Given the description of an element on the screen output the (x, y) to click on. 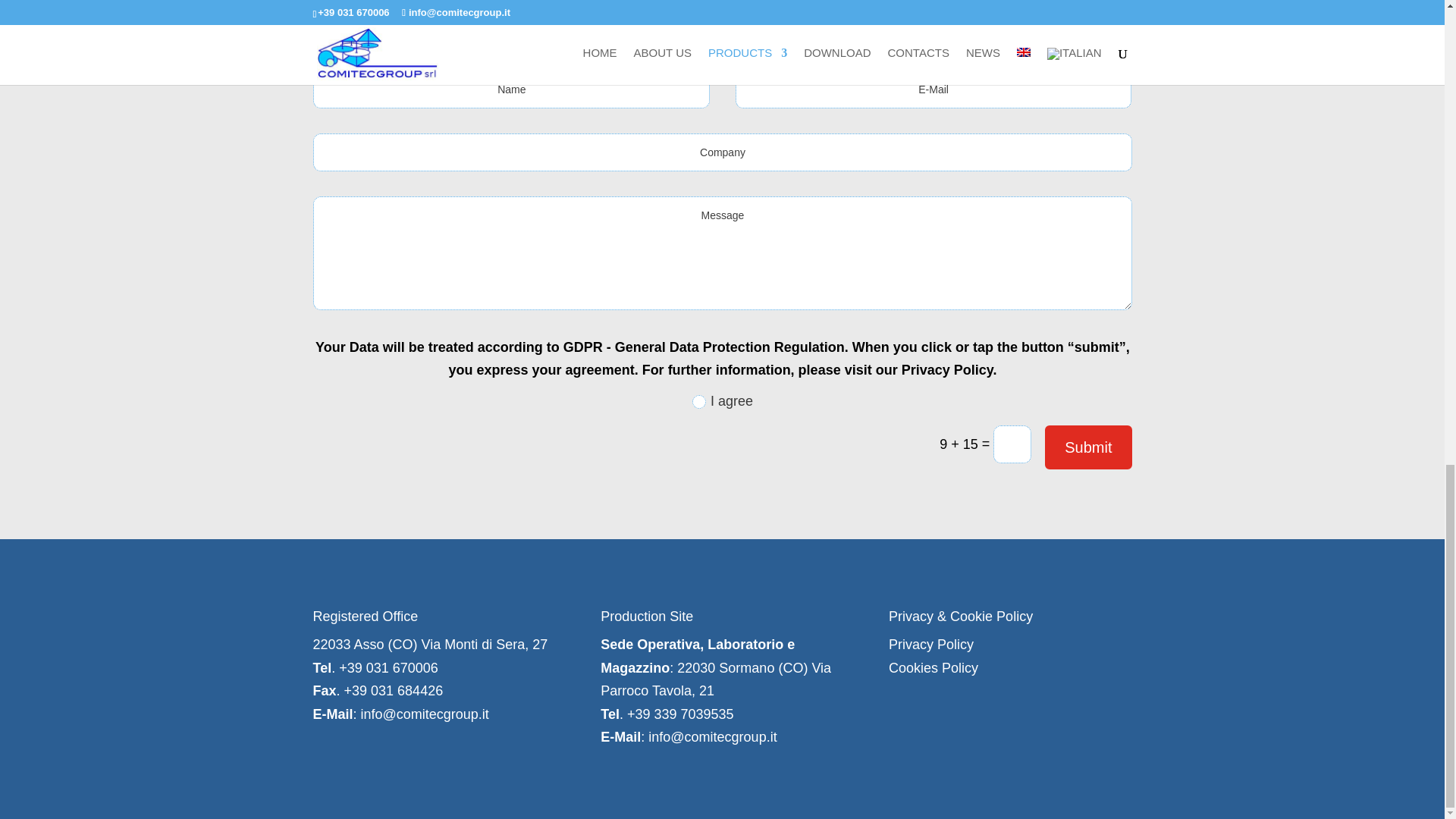
Cookies Policy (933, 667)
Submit (1088, 447)
Privacy Policy (931, 644)
